Given the description of an element on the screen output the (x, y) to click on. 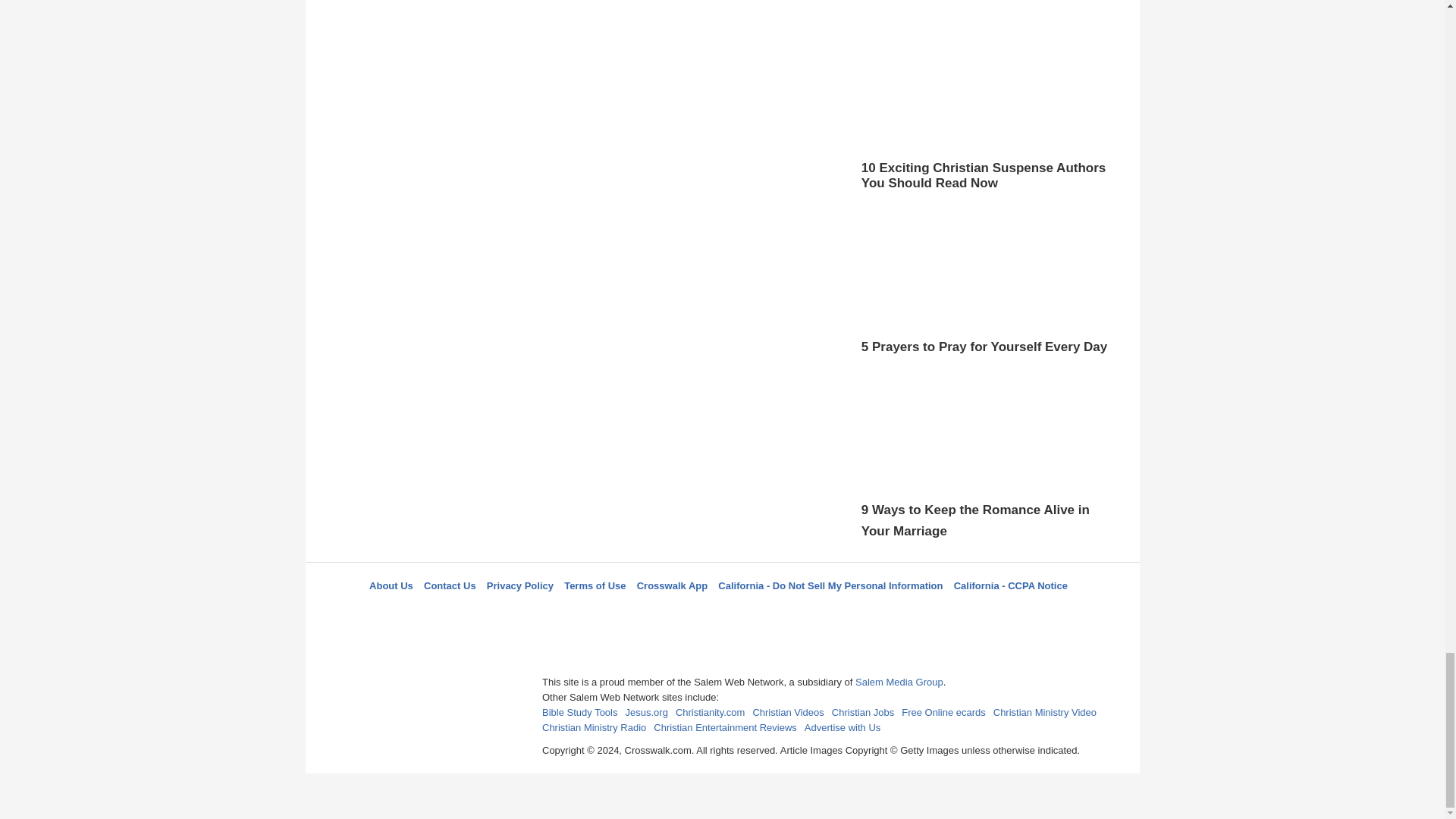
Facebook (645, 612)
Pinterest (757, 612)
YouTube (795, 612)
Twitter (683, 612)
LifeAudio (719, 612)
